Given the description of an element on the screen output the (x, y) to click on. 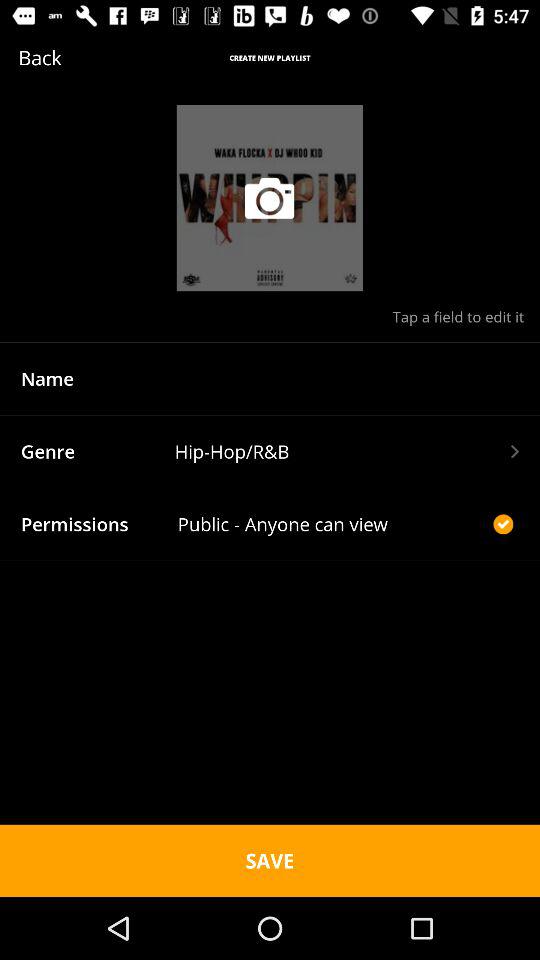
open back (70, 57)
